Given the description of an element on the screen output the (x, y) to click on. 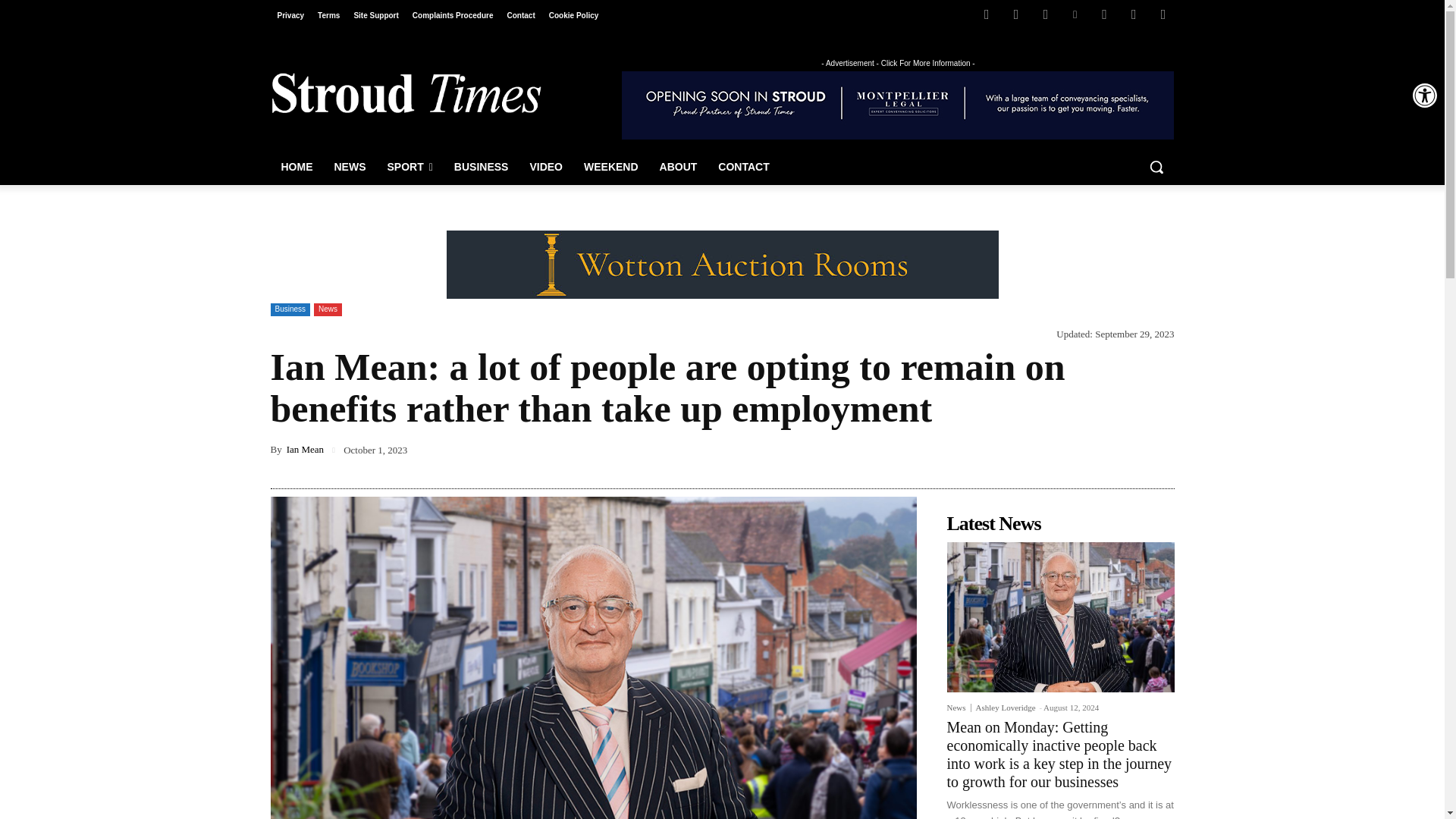
Flipboard (1016, 14)
Accessibility Tools (1424, 95)
Facebook (986, 14)
Terms (328, 15)
Privacy (290, 15)
